Given the description of an element on the screen output the (x, y) to click on. 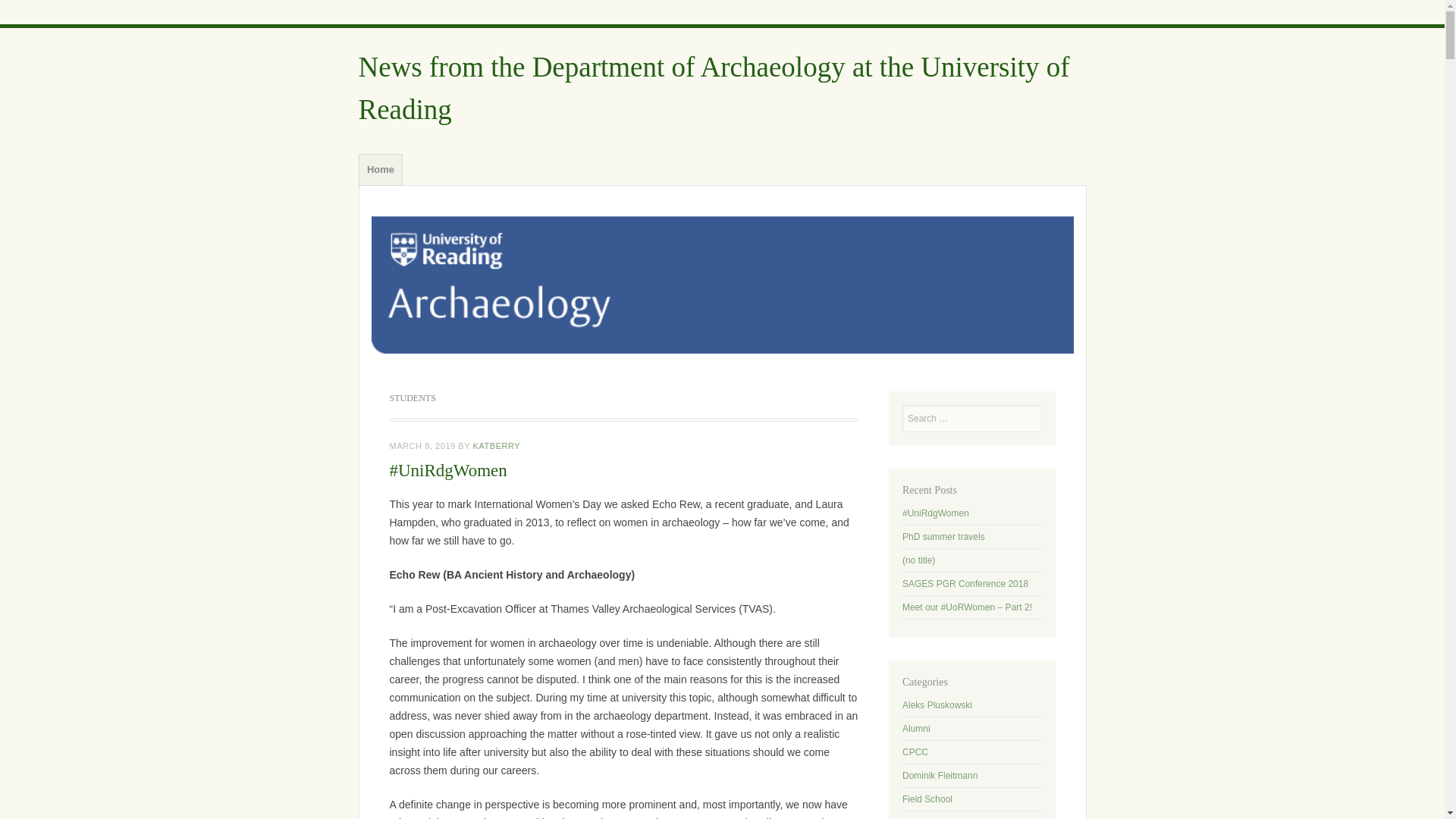
Home (380, 169)
KATBERRY (497, 445)
View all posts by katberry (497, 445)
Skip to content (398, 157)
10:28 am (422, 445)
Skip to content (398, 157)
MARCH 8, 2019 (422, 445)
